Given the description of an element on the screen output the (x, y) to click on. 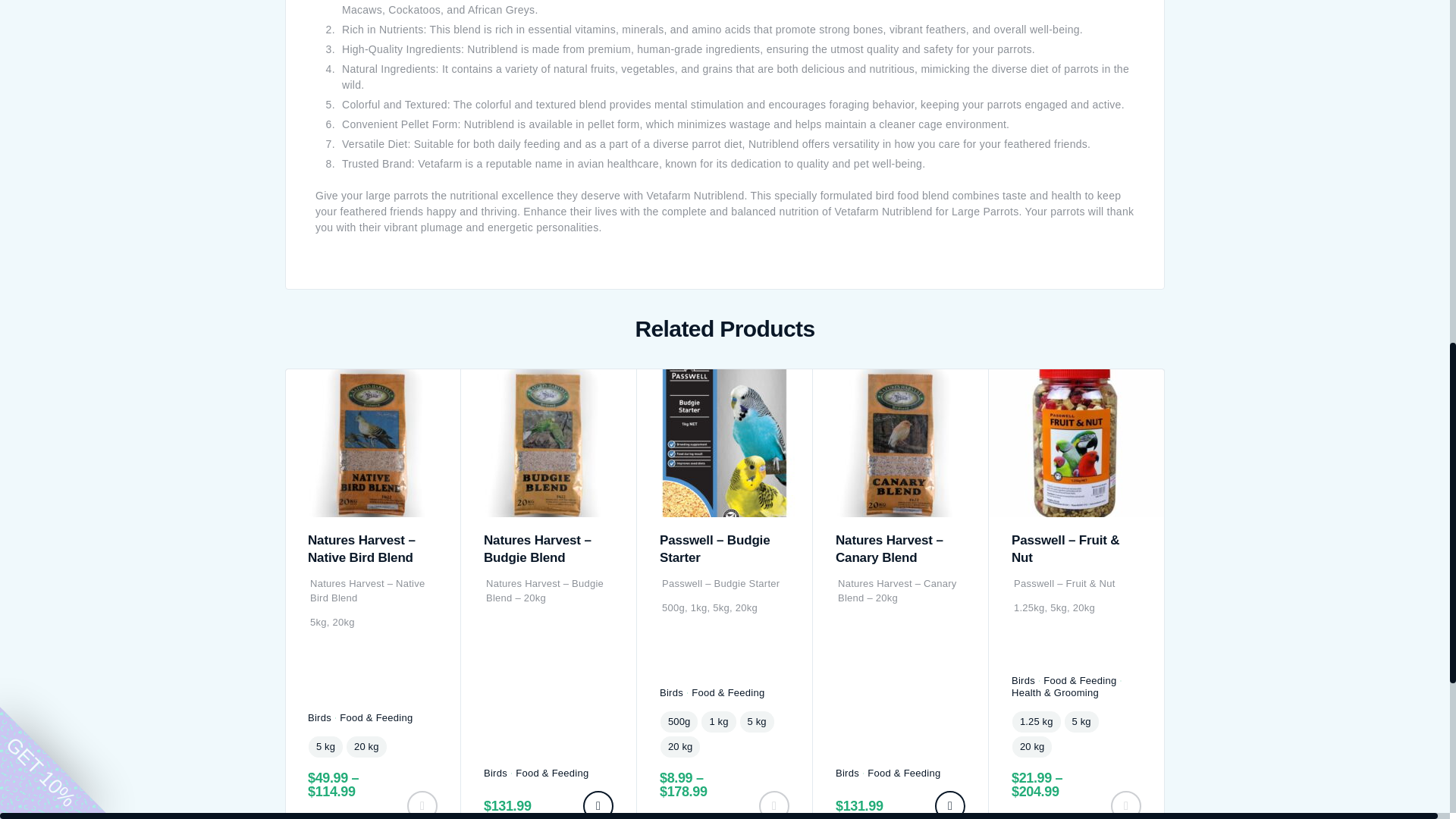
View all posts in Birds (494, 773)
5 kg (325, 746)
20 kg (365, 746)
View all posts in Birds (319, 717)
